Given the description of an element on the screen output the (x, y) to click on. 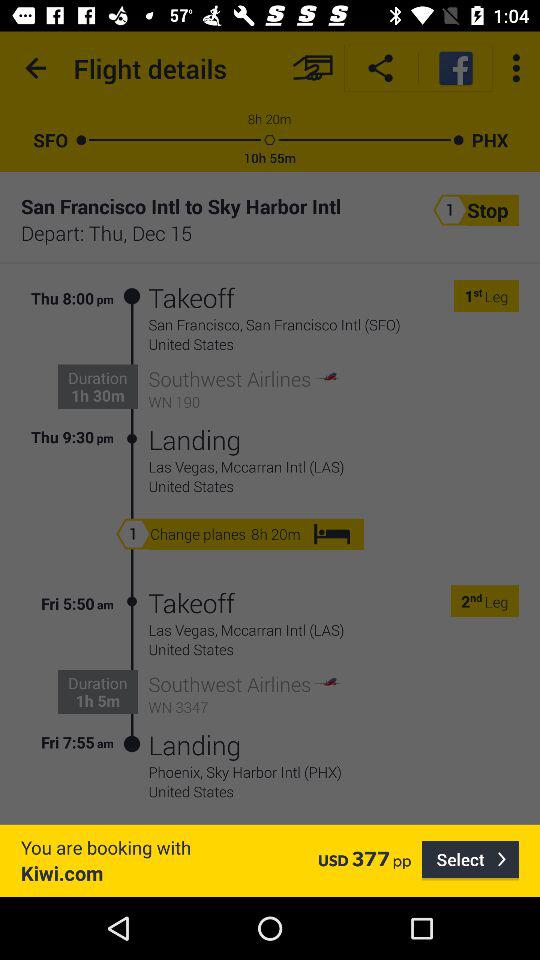
choose the icon to the left of leg (477, 295)
